Given the description of an element on the screen output the (x, y) to click on. 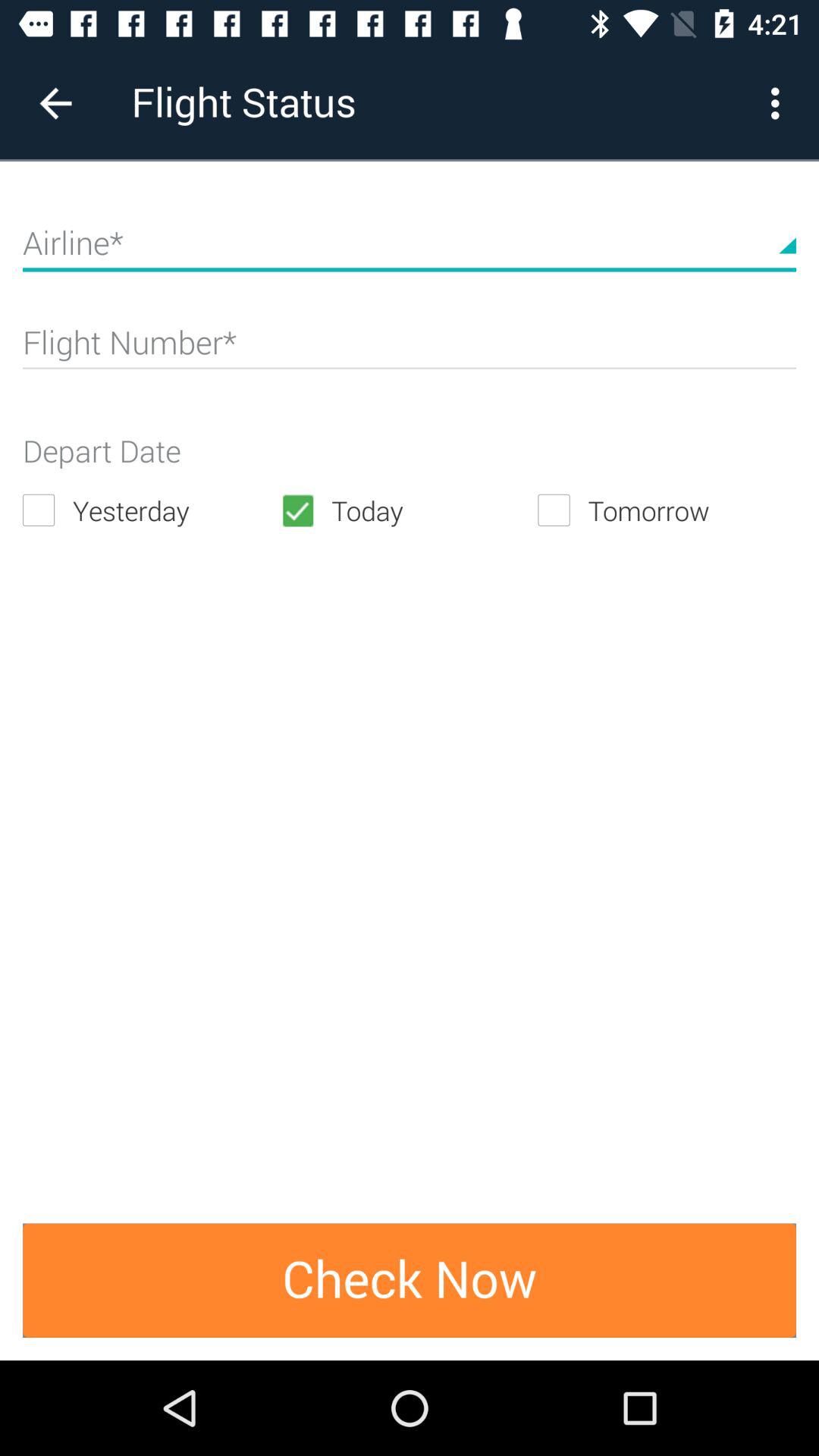
name of airline (409, 249)
